Given the description of an element on the screen output the (x, y) to click on. 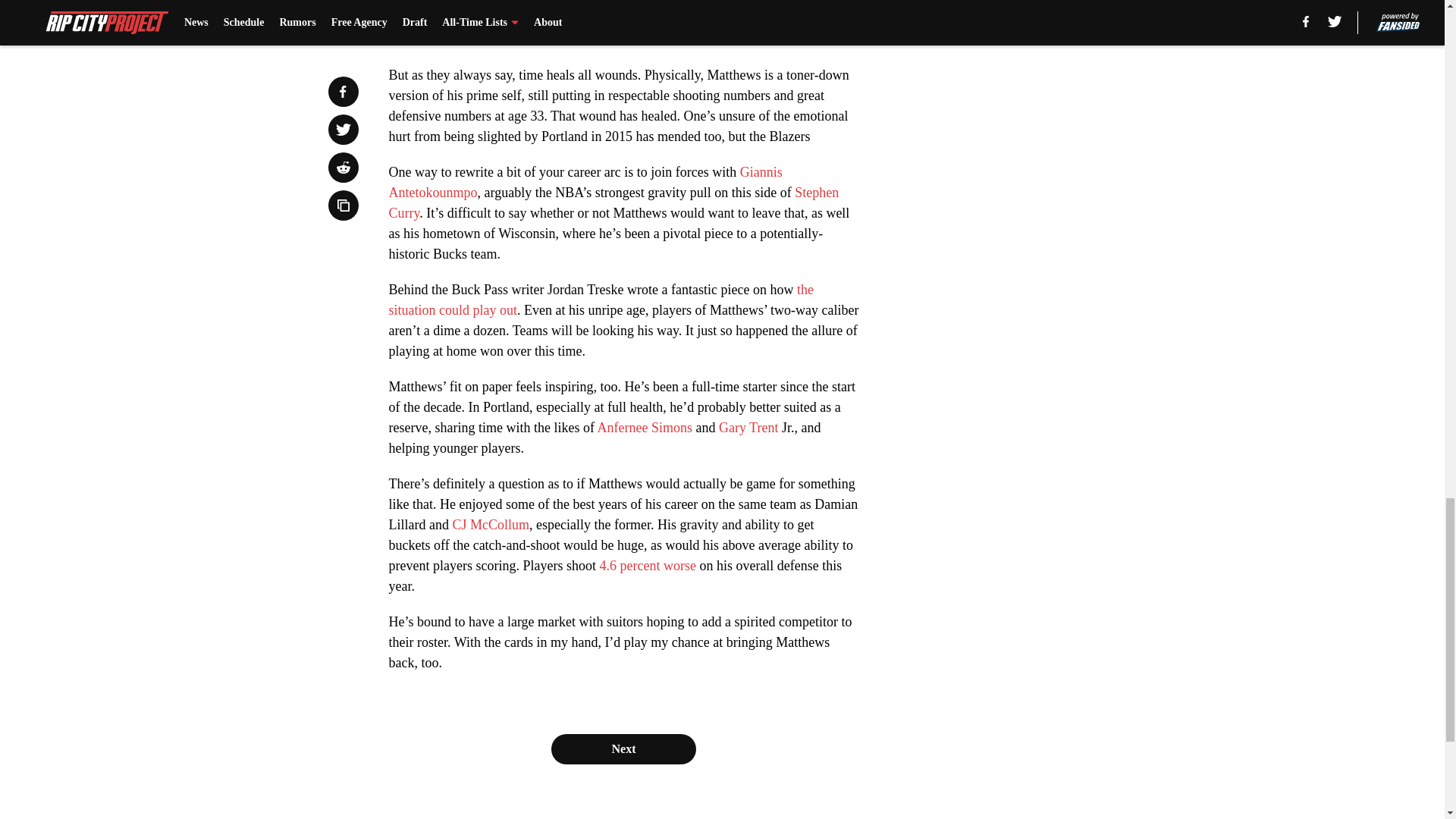
4.6 percent worse (646, 565)
CJ McCollum (490, 524)
the situation could play out (600, 299)
Gary Trent (748, 427)
Giannis Antetokounmpo (584, 181)
Stephen Curry (613, 202)
Anfernee Simons (643, 427)
Next (622, 748)
